Given the description of an element on the screen output the (x, y) to click on. 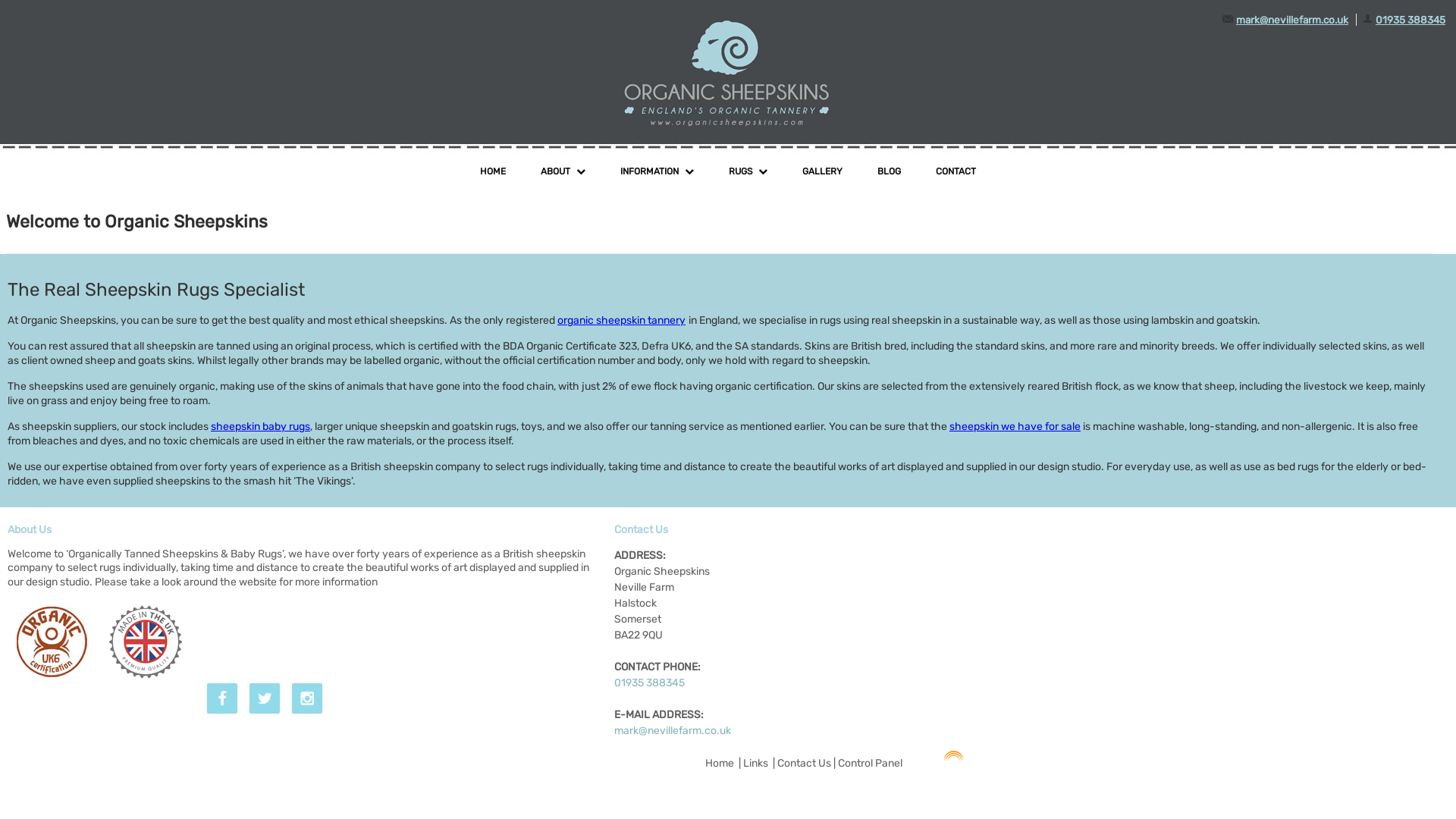
organic sheepskin tannery Element type: text (621, 319)
RUGS Element type: text (747, 171)
Control Panel Element type: text (869, 762)
ABOUT Element type: text (562, 171)
CONTACT Element type: text (955, 171)
Home Element type: text (719, 762)
sheepskin we have for sale Element type: text (1014, 426)
sheepskin baby rugs Element type: text (260, 426)
BLOG Element type: text (888, 171)
Contact Us Element type: text (804, 762)
INFORMATION Element type: text (656, 171)
mark@nevillefarm.co.uk Element type: text (1292, 19)
GALLERY Element type: text (821, 171)
01935 388345 Element type: text (1410, 19)
Links Element type: text (755, 762)
01935 388345 Element type: text (649, 682)
mark@nevillefarm.co.uk Element type: text (672, 730)
HOME Element type: text (492, 171)
